Given the description of an element on the screen output the (x, y) to click on. 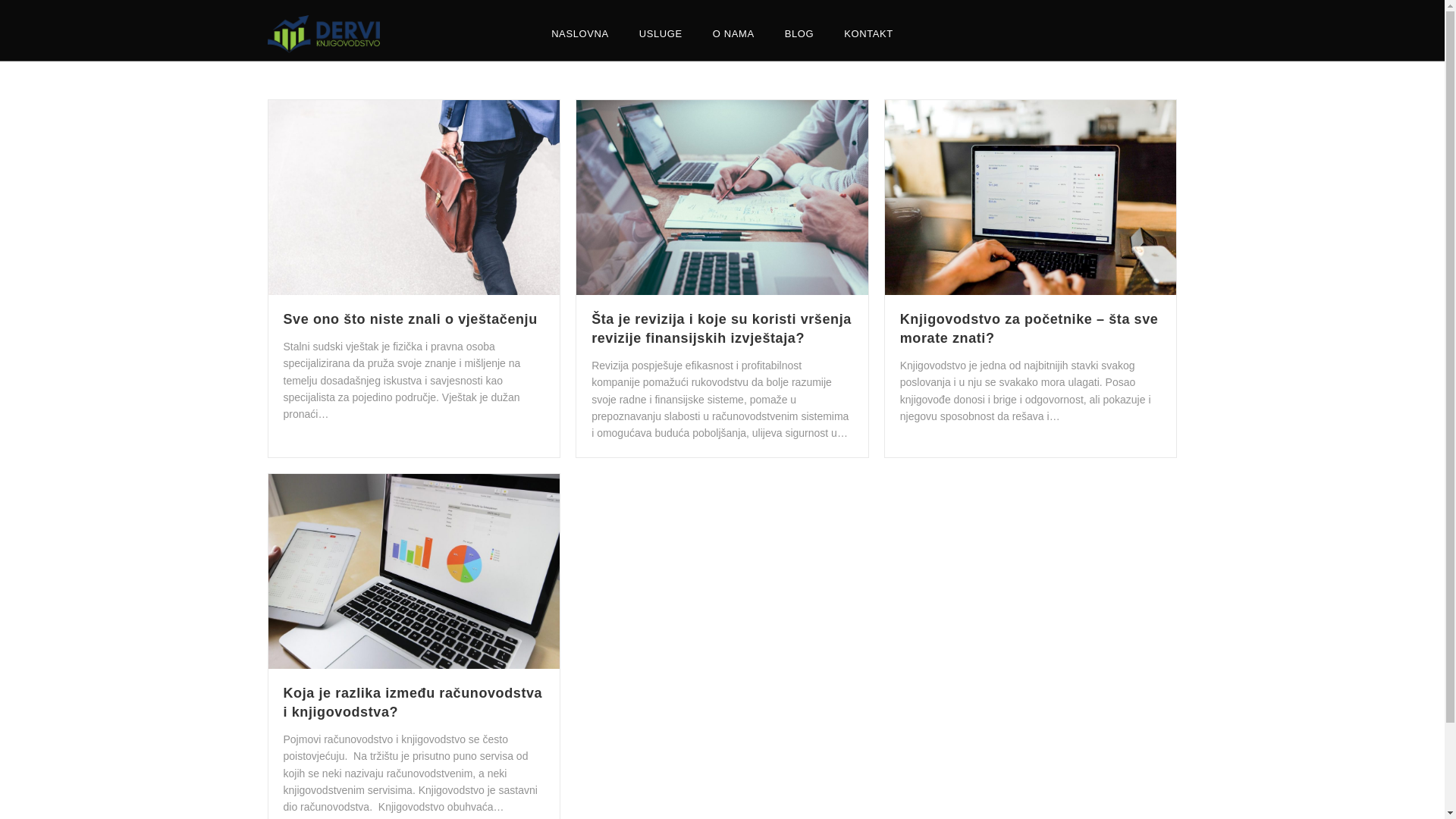
KONTAKT Element type: text (868, 33)
BLOG Element type: text (799, 33)
O NAMA Element type: text (733, 33)
USLUGE Element type: text (660, 33)
NASLOVNA Element type: text (580, 33)
